Given the description of an element on the screen output the (x, y) to click on. 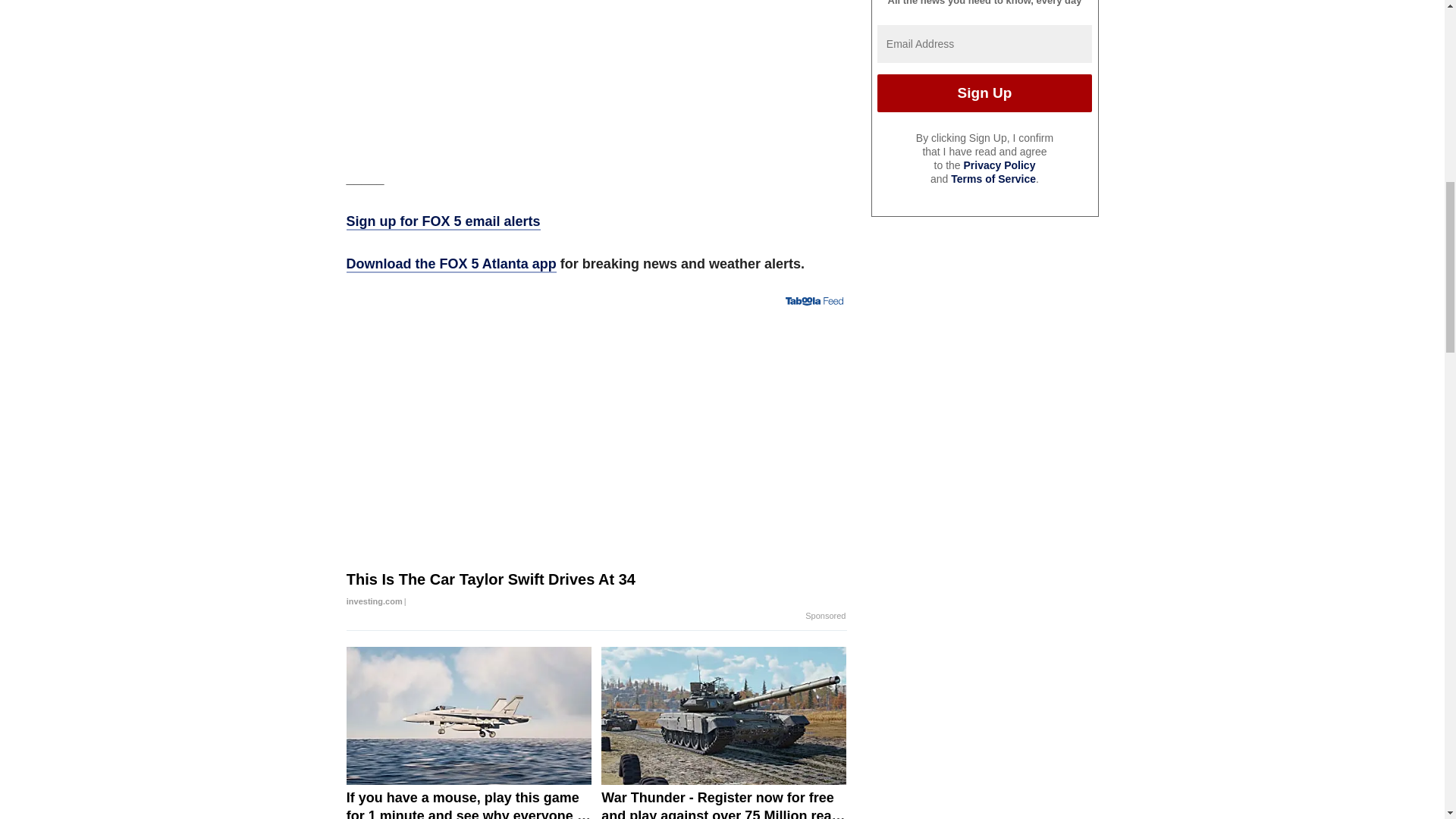
Sign Up (984, 93)
